Given the description of an element on the screen output the (x, y) to click on. 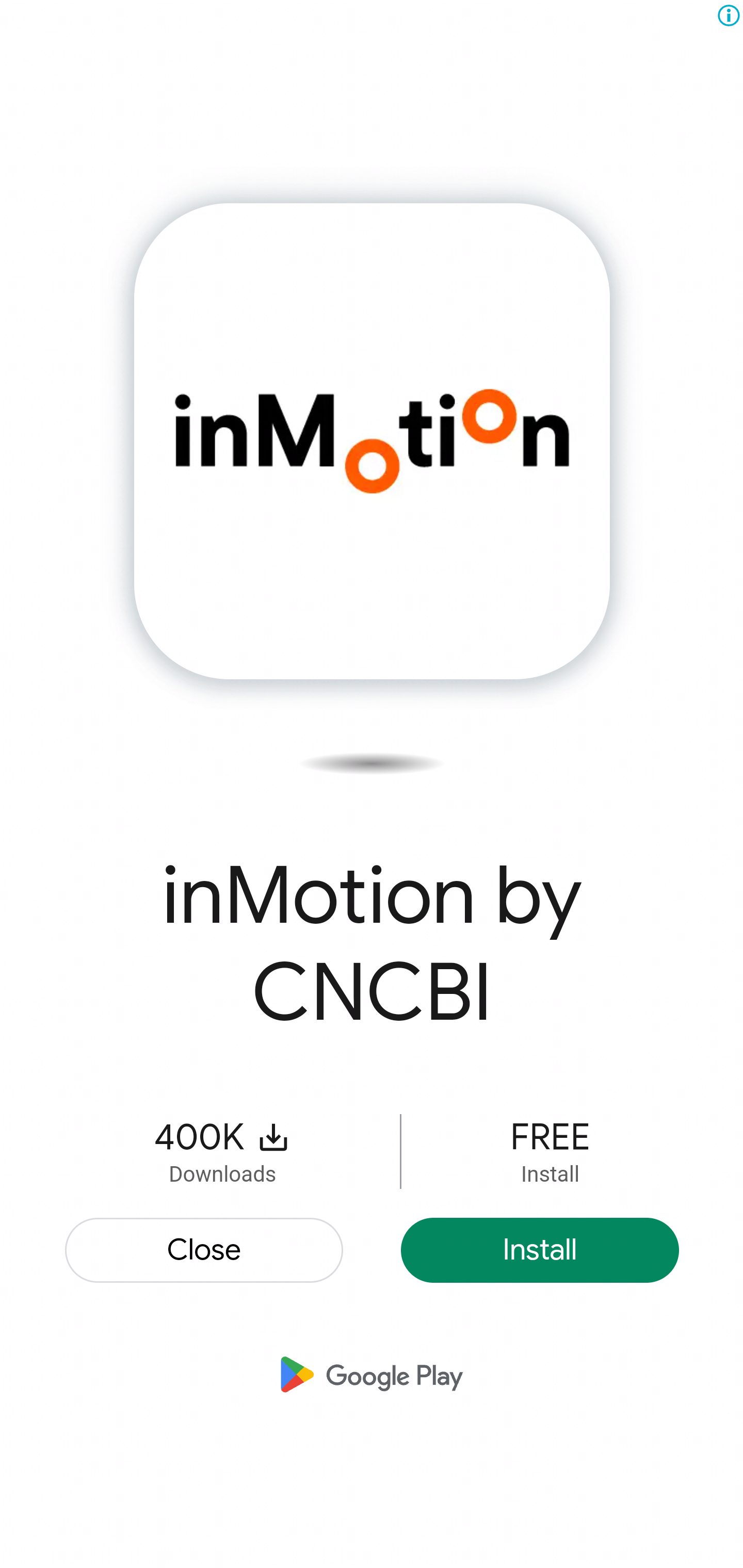
Close (204, 1249)
Install (539, 1249)
